Given the description of an element on the screen output the (x, y) to click on. 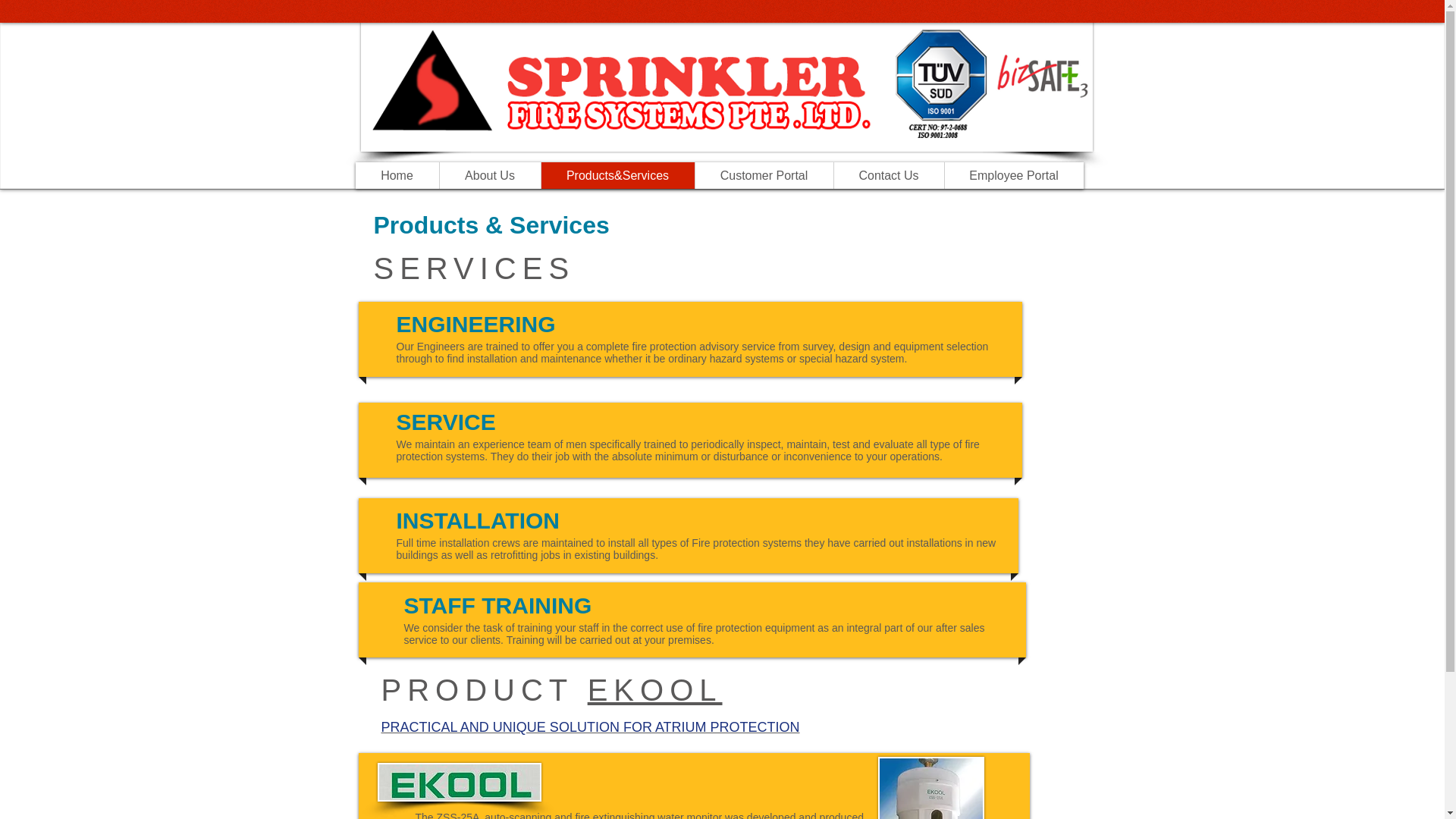
Employee Portal (1013, 175)
PRACTICAL AND UNIQUE SOLUTION FOR ATRIUM PROTECTION (589, 726)
Customer Portal (763, 175)
SPRINKLER FIRE SYSTEMS PTE LTD LOGO (727, 75)
Home (396, 175)
Contact Us (887, 175)
About Us (489, 175)
